Given the description of an element on the screen output the (x, y) to click on. 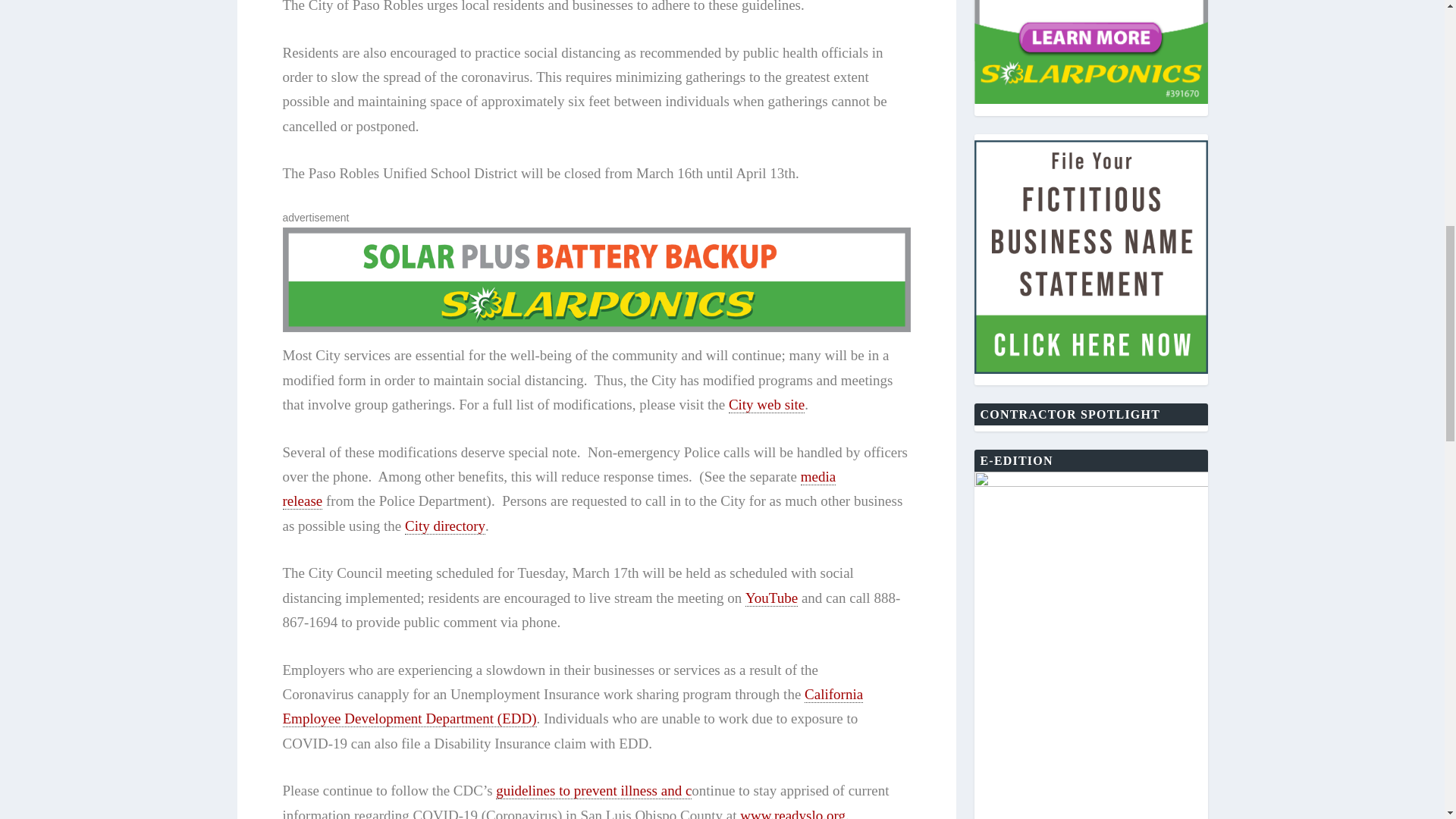
guidelines to prevent illness and c (593, 790)
YouTube (771, 597)
www.readyslo.org (792, 812)
City web site (767, 404)
City directory (444, 525)
media release (558, 488)
